Given the description of an element on the screen output the (x, y) to click on. 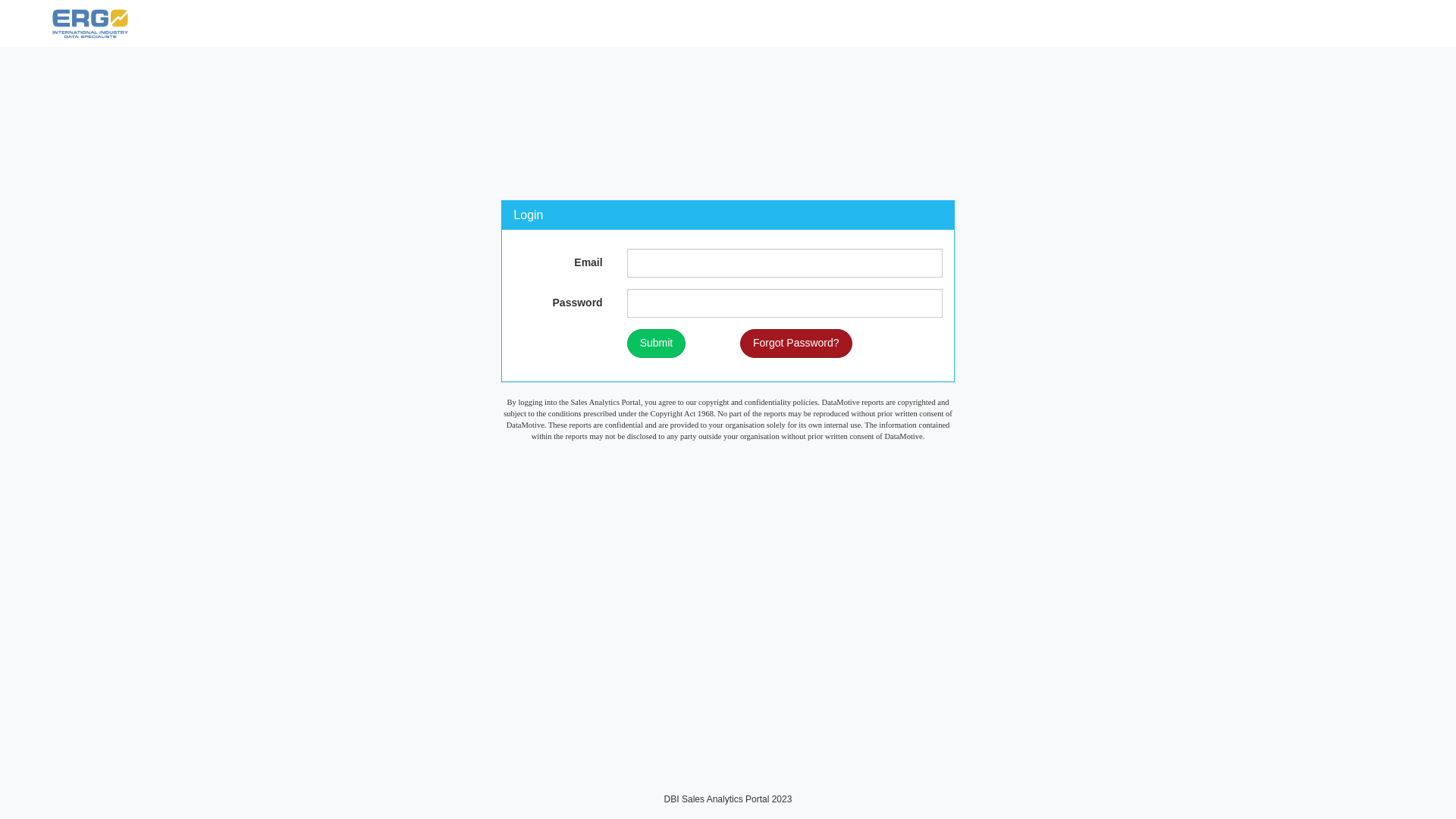
DBI Sales Analytics Portal Element type: hover (143, 23)
Forgot Password? Element type: text (796, 343)
Submit Element type: text (656, 343)
